Given the description of an element on the screen output the (x, y) to click on. 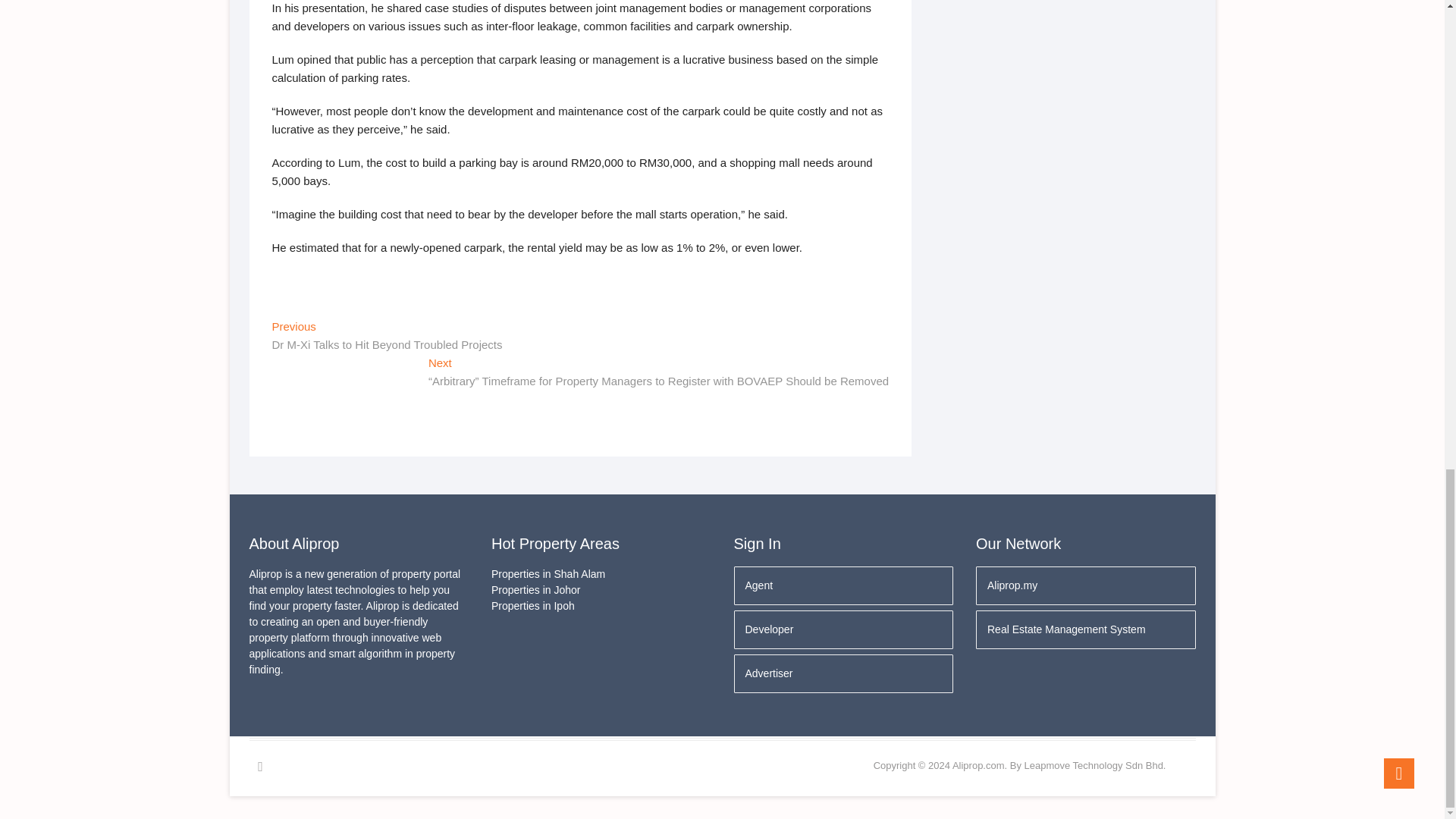
Facebook (259, 766)
Advertiser (843, 673)
Real Estate Management System (1085, 629)
Aliprop.com. (979, 765)
Agent (843, 585)
Aliprop.my (1085, 585)
Properties in Johor (601, 590)
Aliprop (979, 765)
Developer (843, 629)
